Given the description of an element on the screen output the (x, y) to click on. 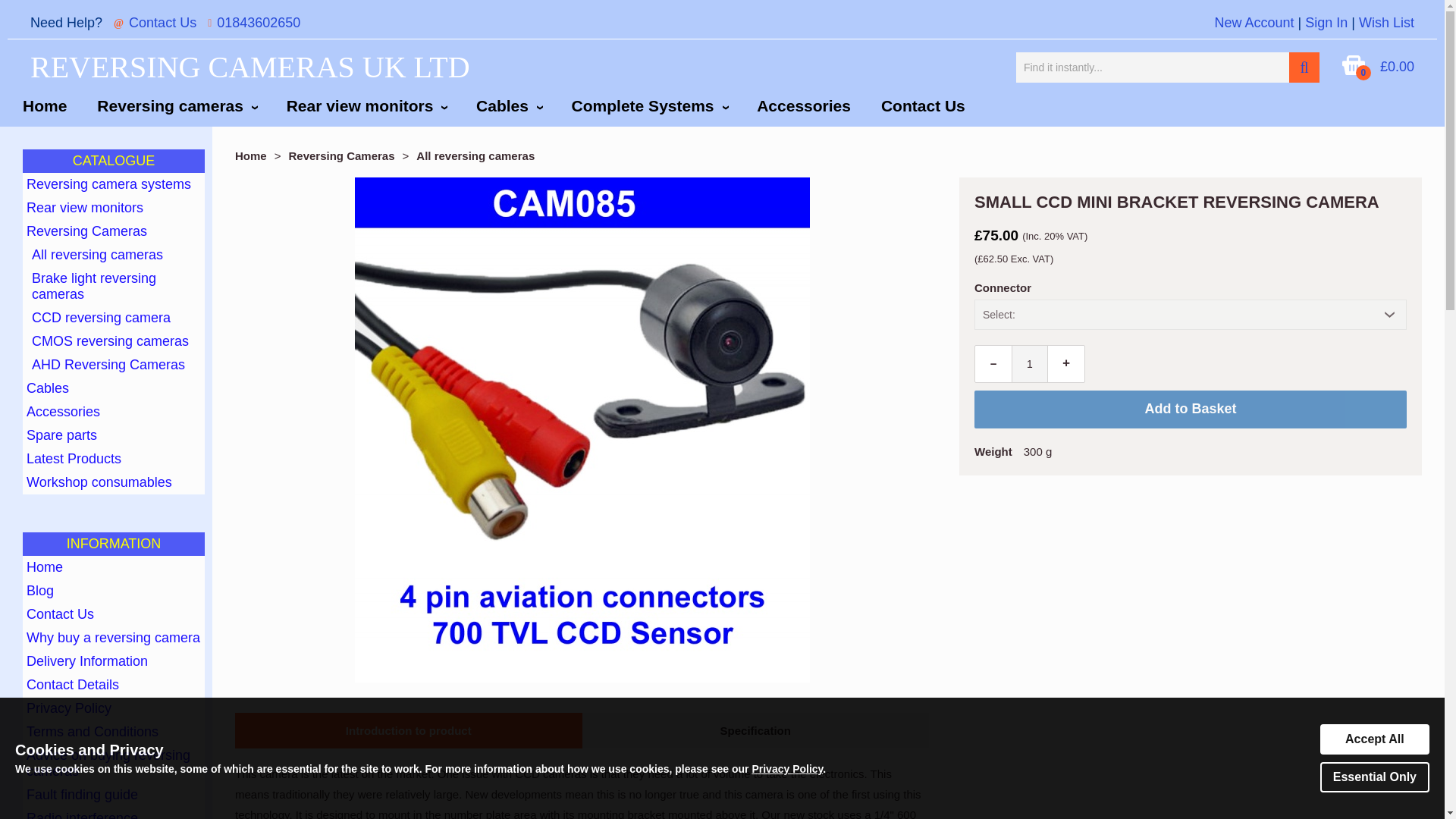
Accessories (803, 106)
Reversing cameras (175, 106)
New Account (1254, 23)
1 (1029, 363)
Contact Us (162, 22)
Cables (508, 106)
Home (44, 106)
Wish List (1385, 23)
Sign In (1326, 23)
0 (1353, 71)
Reversing camera systems (114, 184)
Go (1303, 66)
Rear view monitors (365, 106)
Contact Us (922, 106)
Rear view monitors (114, 208)
